Given the description of an element on the screen output the (x, y) to click on. 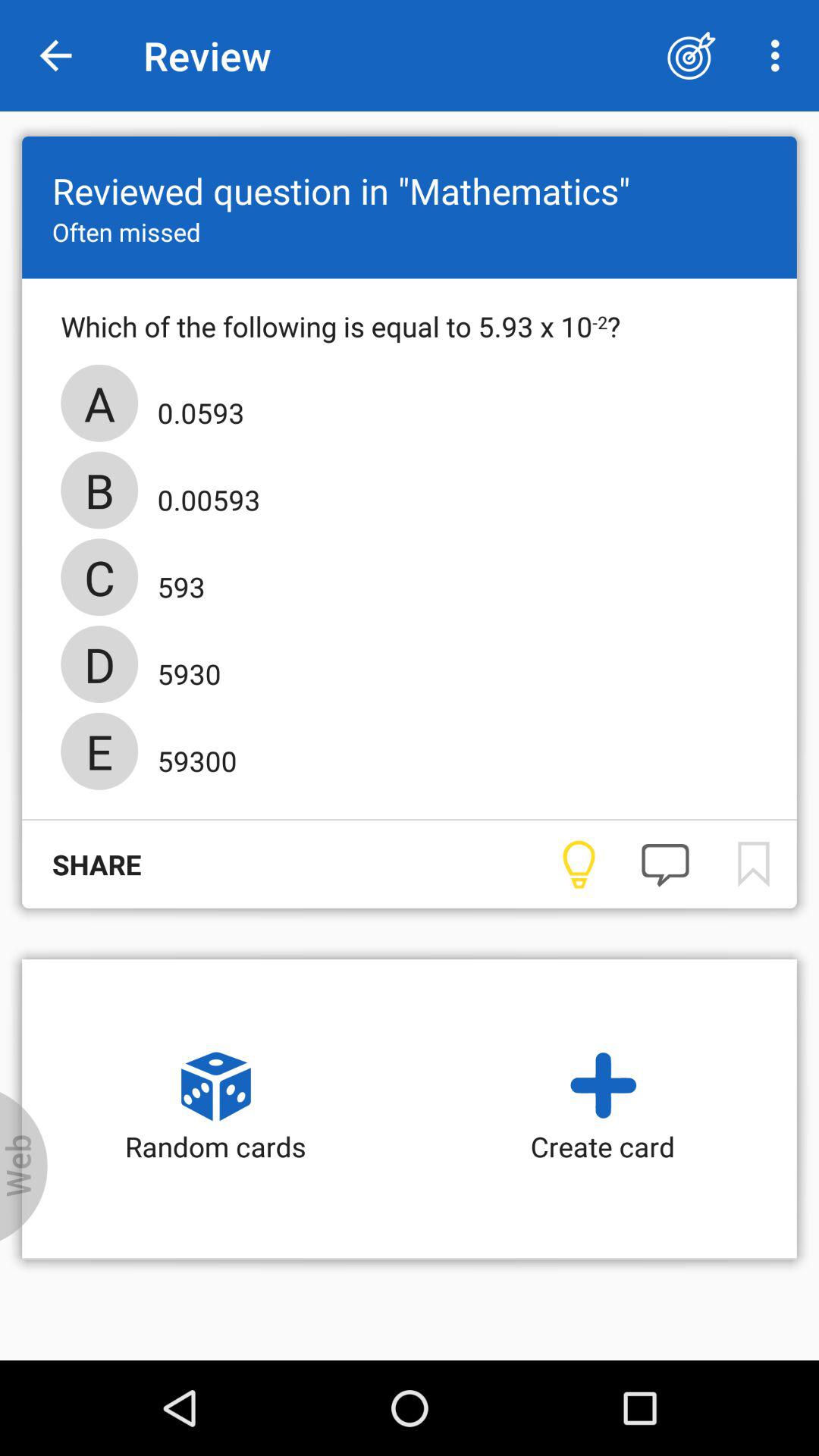
get some tips (577, 864)
